Given the description of an element on the screen output the (x, y) to click on. 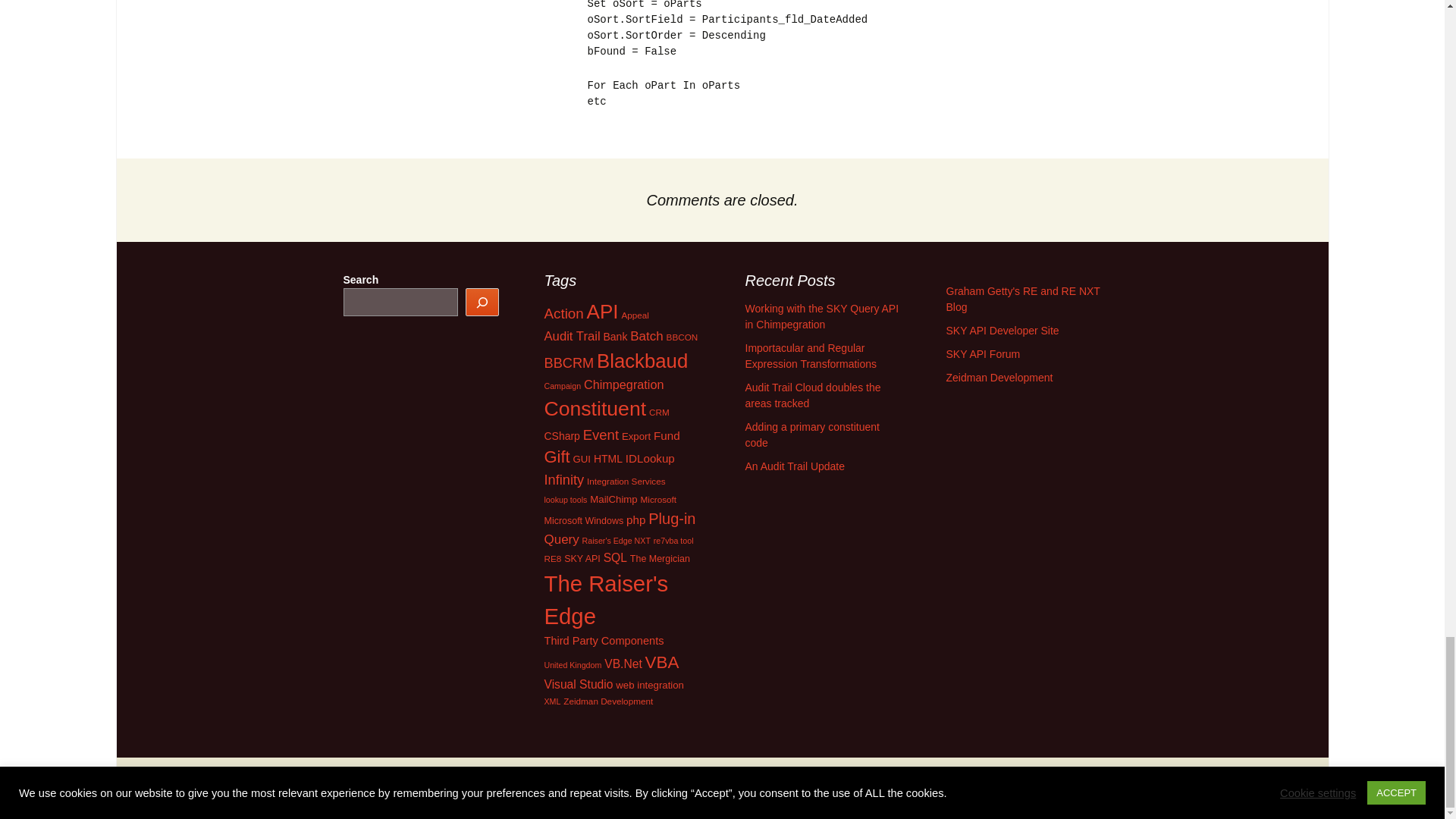
GUI (582, 459)
Campaign (562, 385)
BBCON (682, 337)
Audit Trail (571, 336)
Blackbaud (641, 360)
Action (563, 313)
Constituent (595, 408)
Chimpegration (623, 384)
CRM (659, 411)
Event (600, 434)
